Given the description of an element on the screen output the (x, y) to click on. 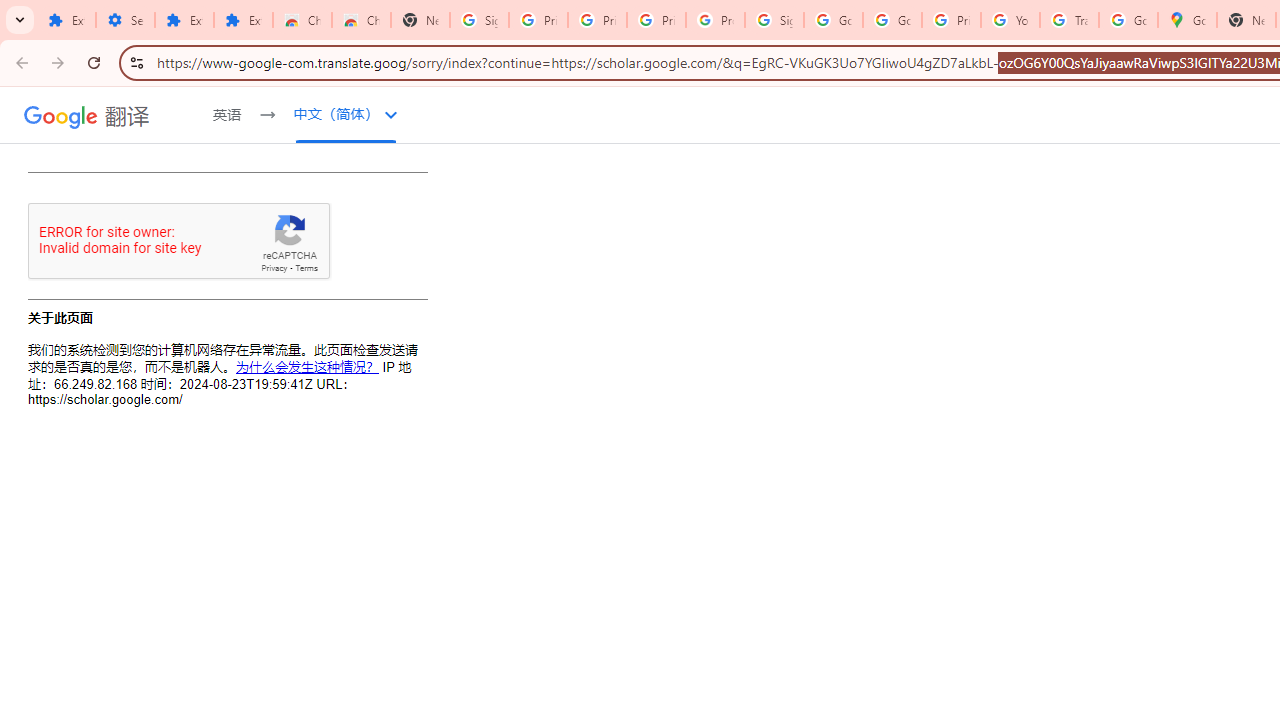
New Tab (420, 20)
Sign in - Google Accounts (774, 20)
Extensions (66, 20)
Google Maps (1187, 20)
